Given the description of an element on the screen output the (x, y) to click on. 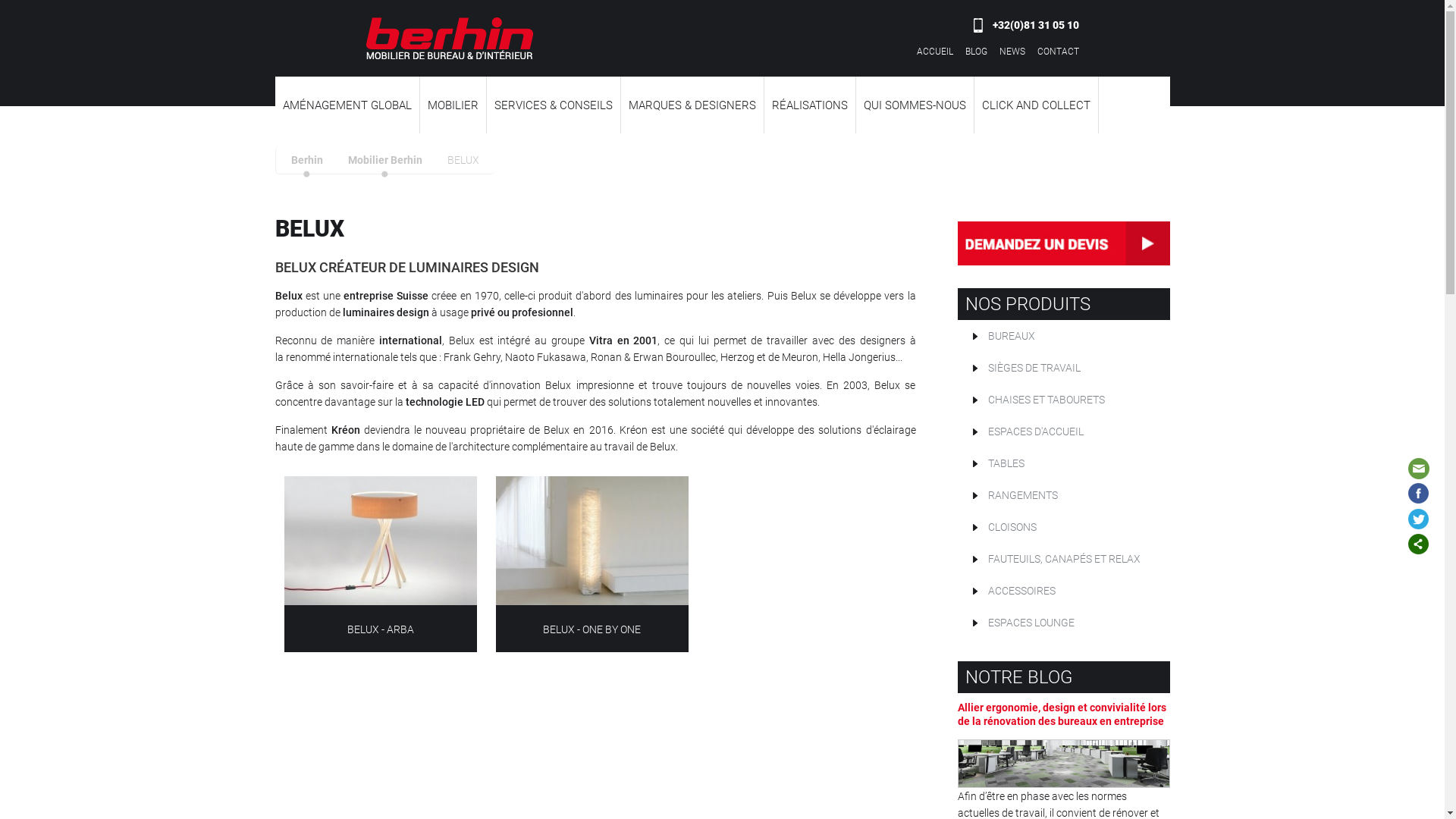
+32(0)81 31 05 10 Element type: text (1026, 24)
MARQUES & DESIGNERS Element type: text (691, 105)
ACCUEIL Element type: text (934, 51)
RANGEMENTS Element type: text (1063, 495)
Mobilier Berhin Element type: text (384, 165)
Belux - one by one Element type: hover (591, 540)
Partager ce contenu Element type: text (1418, 543)
ESPACES LOUNGE Element type: text (1063, 622)
BUREAUX Element type: text (1063, 335)
BELUX - ARBA Element type: text (380, 629)
CONTACT Element type: text (1058, 51)
Berhin Element type: text (307, 165)
ACCESSOIRES Element type: text (1063, 590)
BLOG Element type: text (975, 51)
MOBILIER Element type: text (453, 105)
CHAISES ET TABOURETS Element type: text (1063, 399)
QUI SOMMES-NOUS Element type: text (914, 105)
TABLES Element type: text (1063, 463)
Rechercher Element type: text (1140, 166)
CLOISONS Element type: text (1063, 526)
Belux - arba Element type: hover (380, 540)
BELUX - ONE BY ONE Element type: text (591, 629)
SERVICES & CONSEILS Element type: text (553, 105)
NEWS Element type: text (1012, 51)
CLICK AND COLLECT Element type: text (1035, 105)
ESPACES D'ACCUEIL Element type: text (1063, 431)
Demandez un devis Element type: hover (1063, 243)
